Given the description of an element on the screen output the (x, y) to click on. 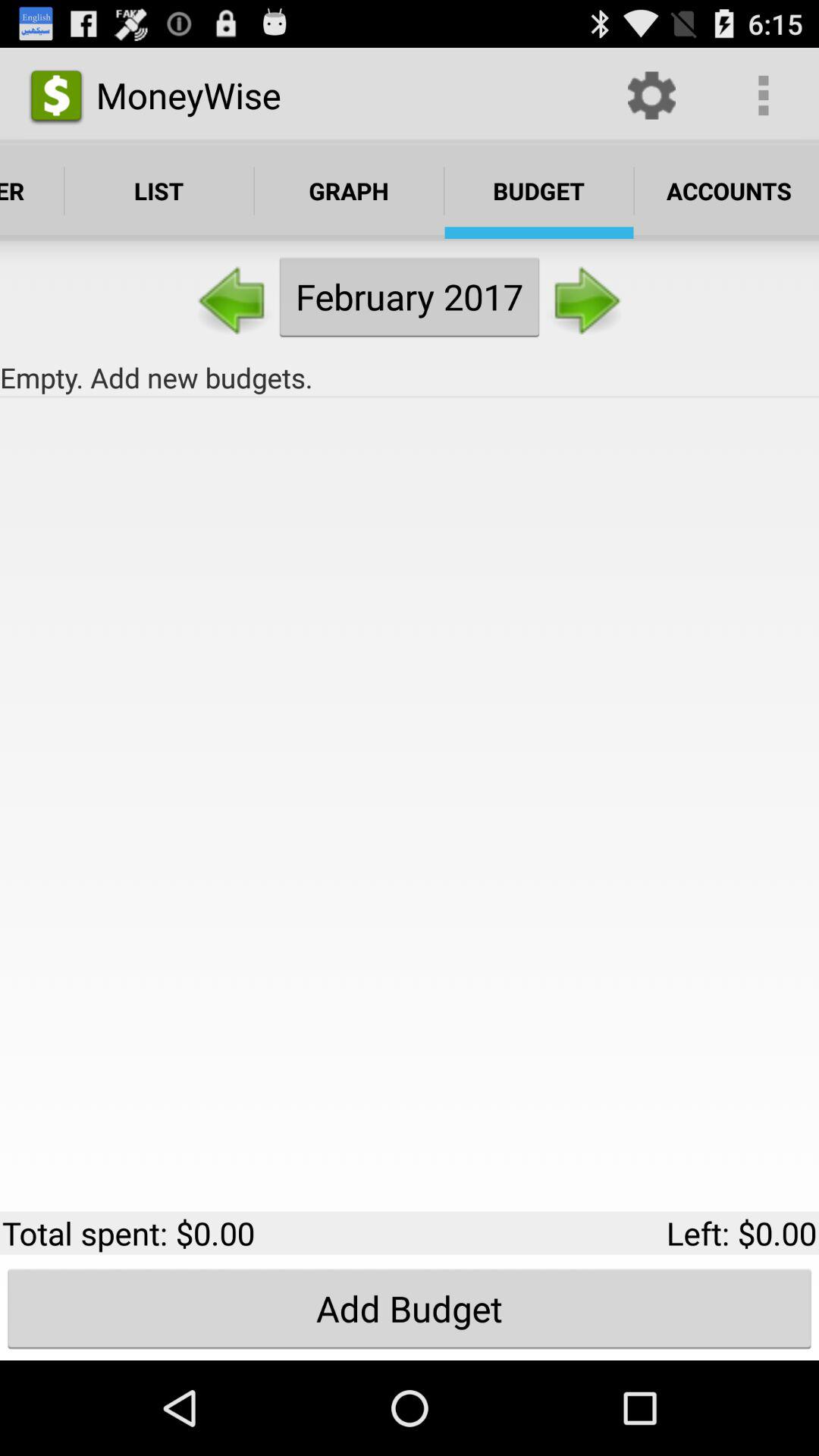
press the february 2017 icon (409, 296)
